Given the description of an element on the screen output the (x, y) to click on. 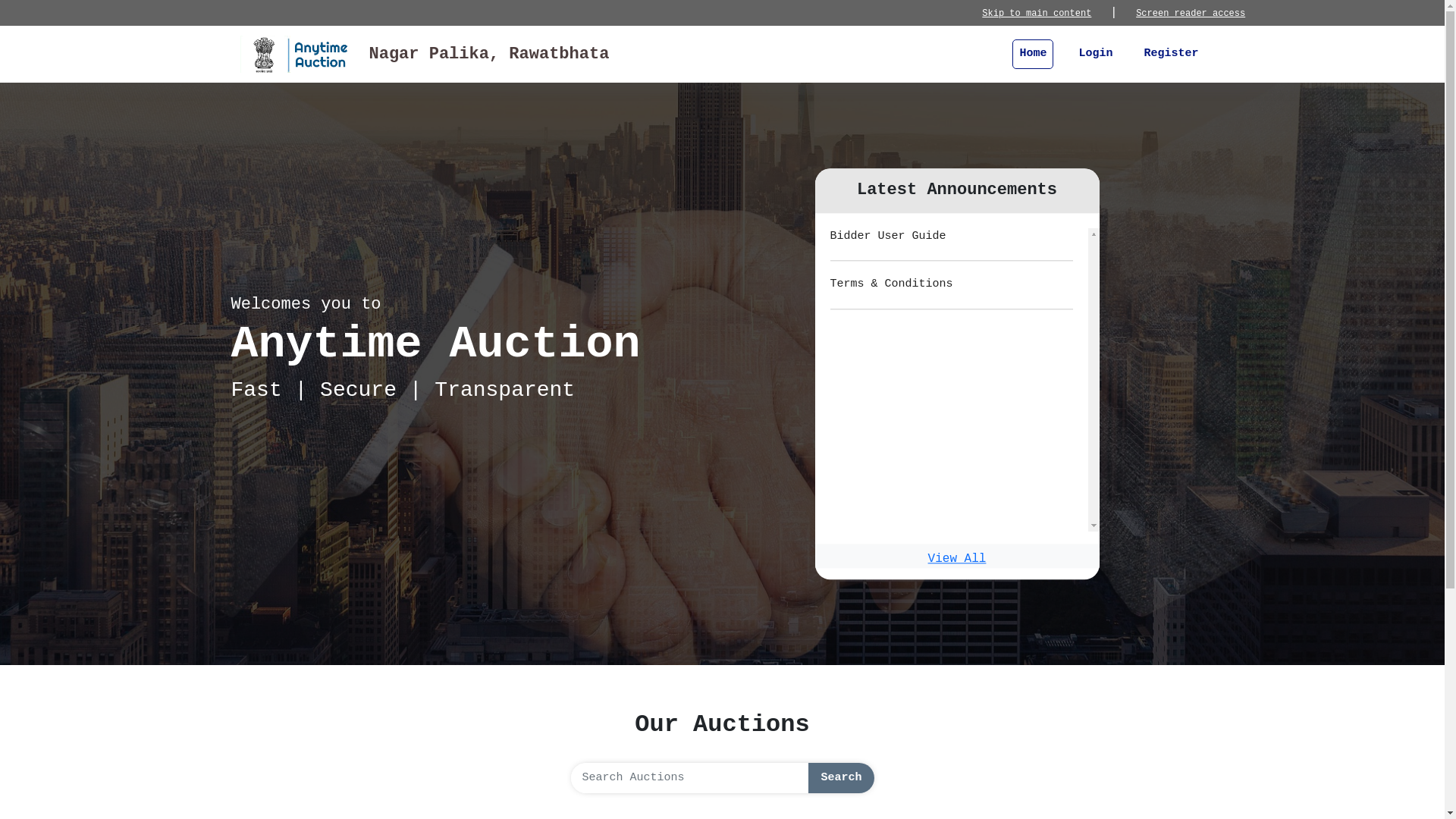
Anytime Auction Element type: hover (296, 53)
Home Element type: text (1032, 54)
Bidder User Guide Element type: text (887, 235)
Search Element type: text (840, 777)
Terms & Conditions Element type: text (890, 284)
Skip to main content Element type: text (1036, 13)
Register Element type: text (1170, 54)
View All Element type: text (957, 558)
Nagar Palika, Rawatbhata Element type: text (423, 53)
Login Element type: text (1095, 54)
Screen reader access Element type: text (1190, 13)
